Given the description of an element on the screen output the (x, y) to click on. 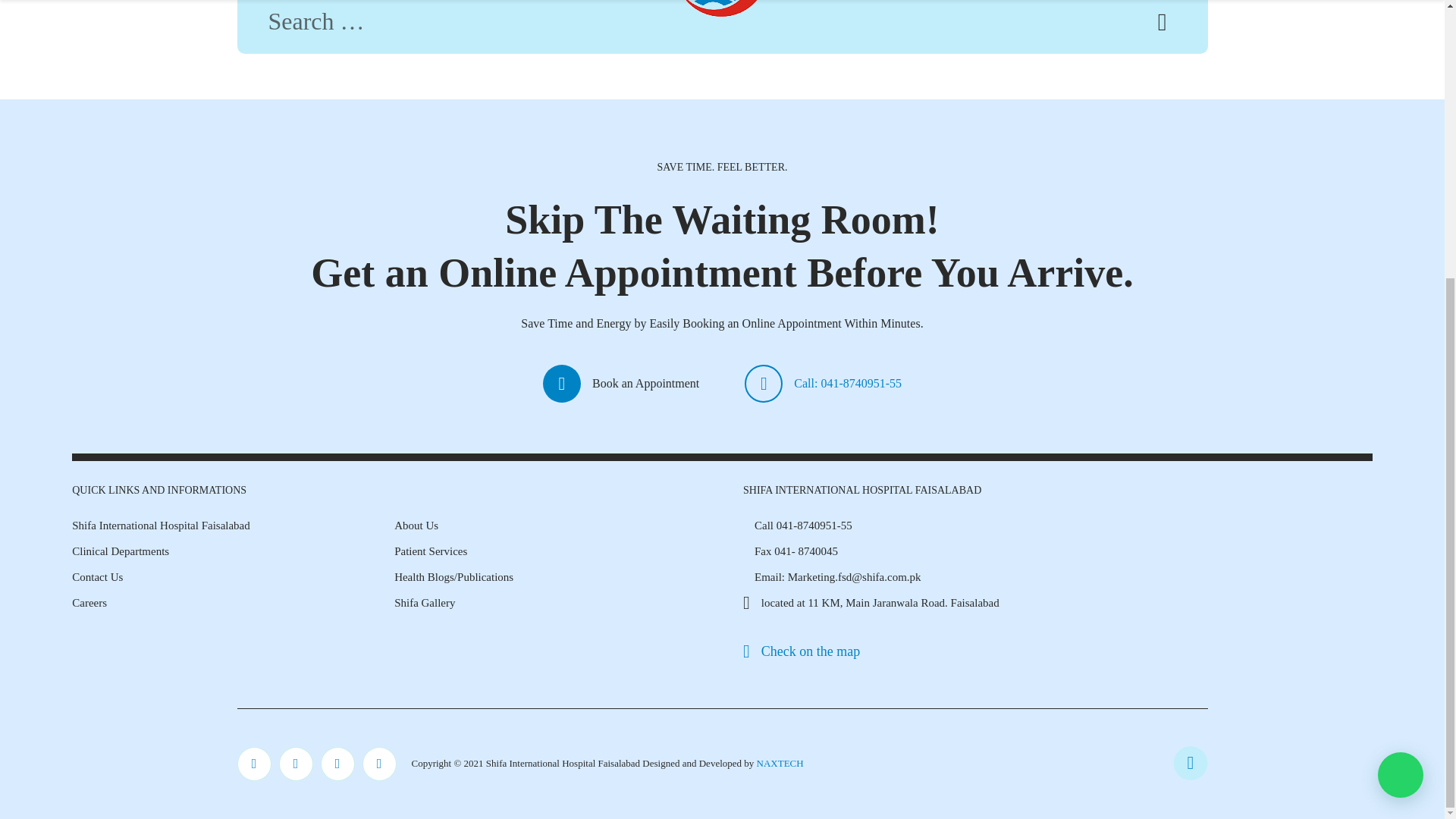
Search (1161, 26)
Clinical Departments (119, 551)
About Us (416, 525)
Shifa International Hospital Faisalabad (160, 525)
Call: 041-8740951-55 (822, 383)
Book an Appointment (620, 383)
